Given the description of an element on the screen output the (x, y) to click on. 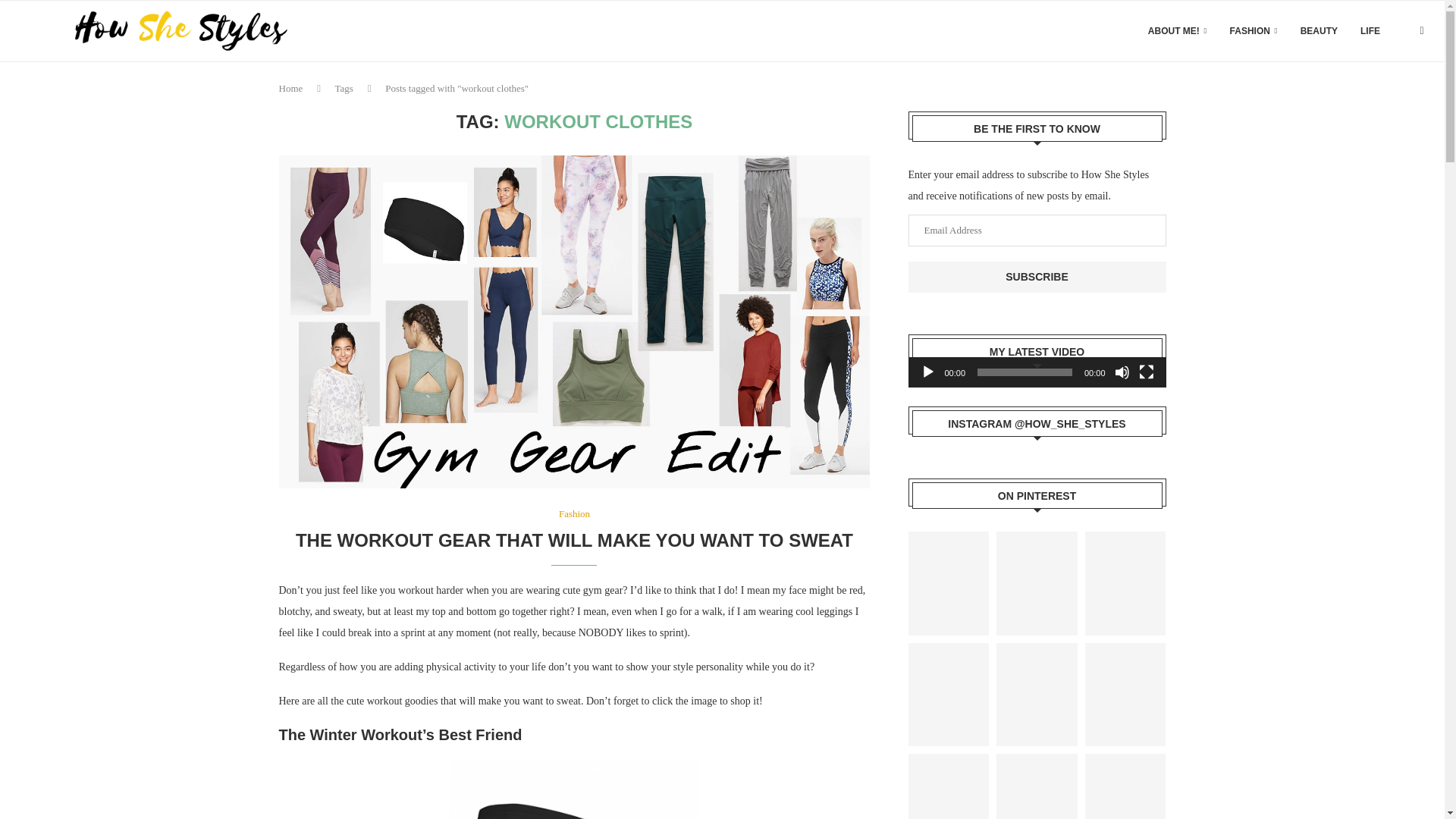
THE WORKOUT GEAR THAT WILL MAKE YOU WANT TO SWEAT (574, 539)
Home (290, 88)
SUBSCRIBE (1037, 276)
ABOUT ME! (1177, 30)
Mute (1122, 372)
Fashion (574, 513)
Play (928, 372)
Fullscreen (1146, 372)
